Given the description of an element on the screen output the (x, y) to click on. 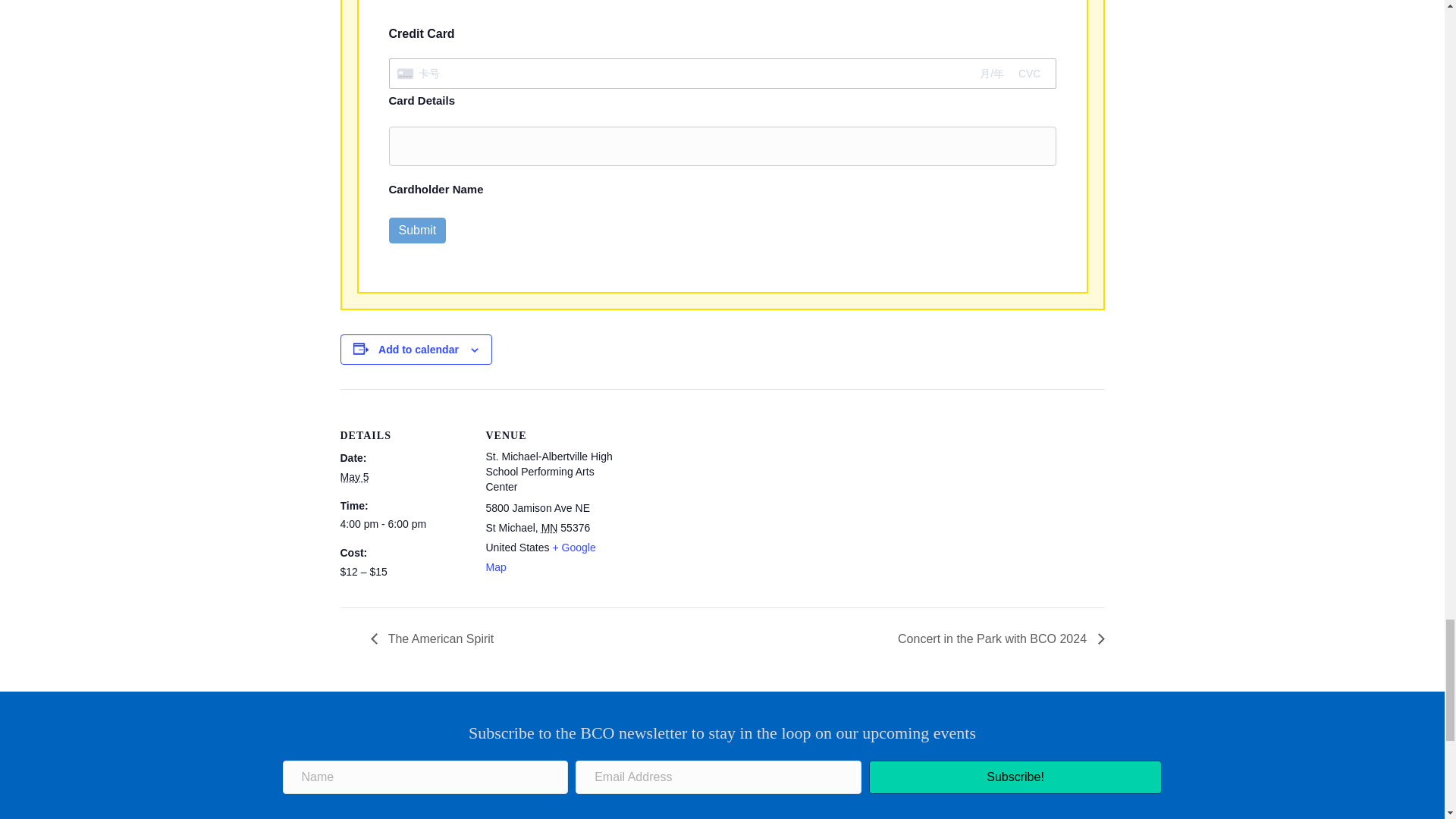
Add to calendar (418, 349)
2024-05-05 (403, 524)
Subscribe! (1015, 776)
Concert in the Park with BCO 2024 (996, 638)
Submit (416, 229)
2024-05-05 (353, 476)
The American Spirit (435, 638)
Submit (416, 229)
Click to view a Google Map (539, 557)
Minnesota (549, 527)
